Given the description of an element on the screen output the (x, y) to click on. 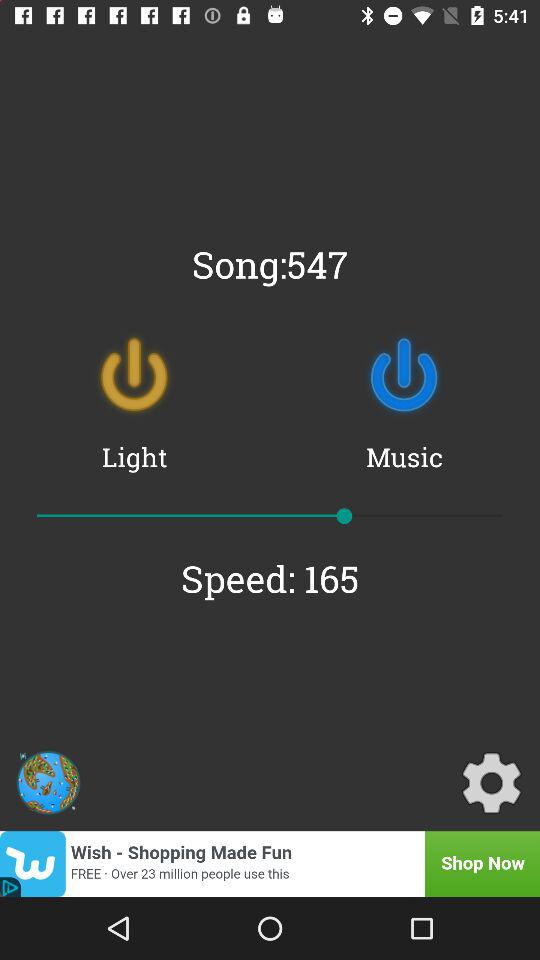
select item below speed: 165 icon (48, 782)
